Given the description of an element on the screen output the (x, y) to click on. 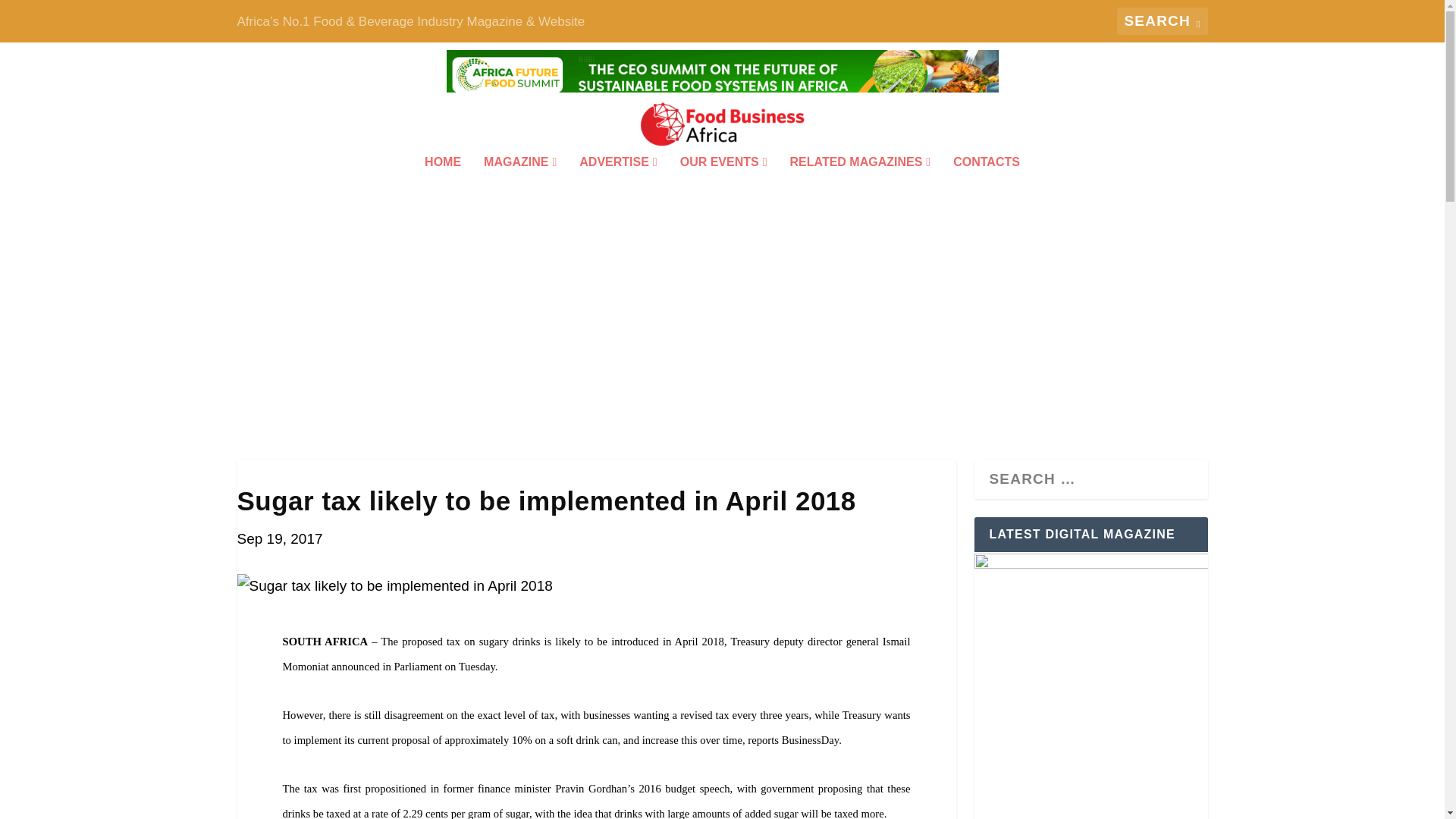
RELATED MAGAZINES (860, 182)
Search for: (1161, 21)
CONTACTS (986, 182)
MAGAZINE (519, 182)
OUR EVENTS (723, 182)
ADVERTISE (617, 182)
